Given the description of an element on the screen output the (x, y) to click on. 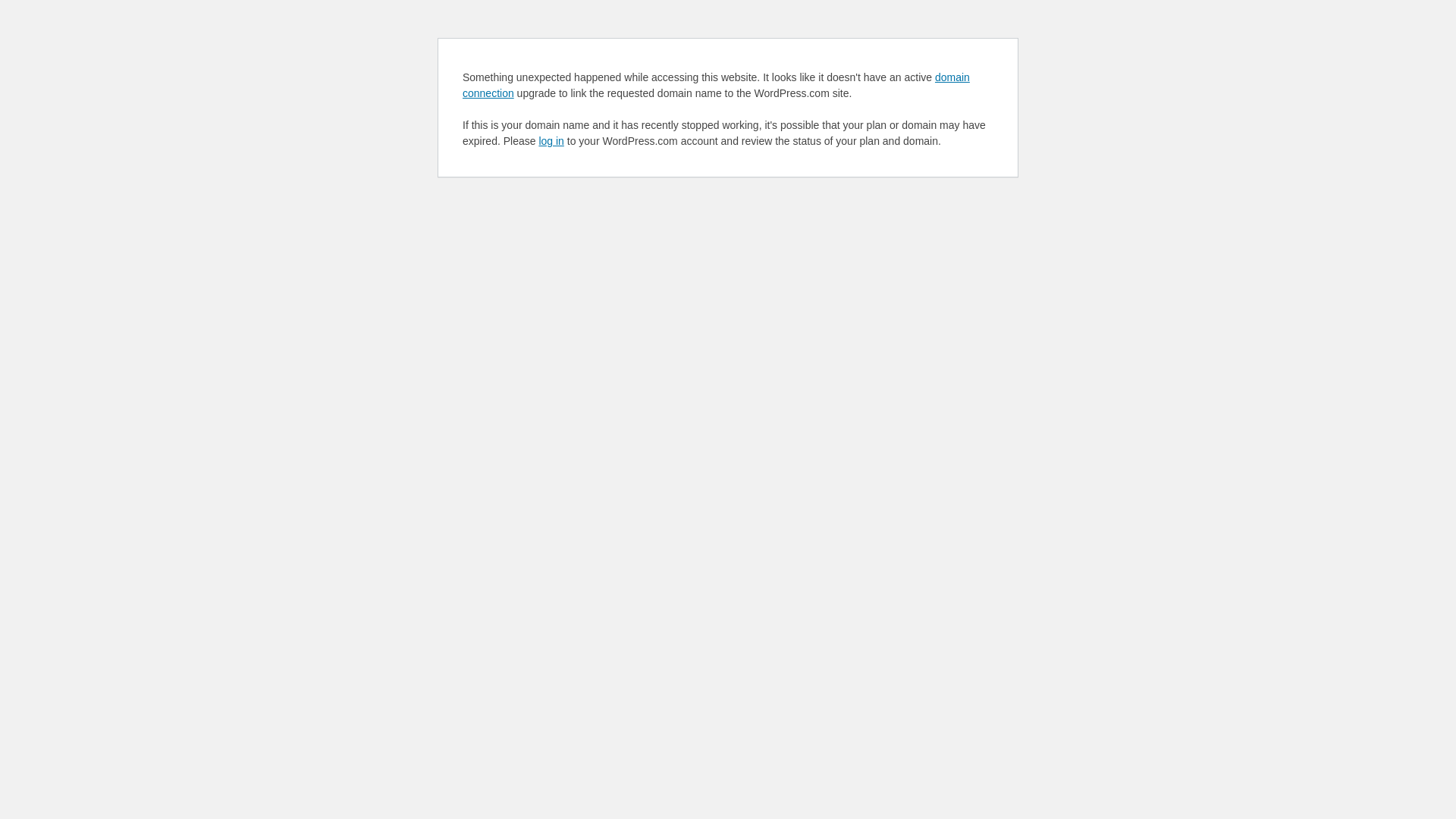
domain connection Element type: text (715, 85)
log in Element type: text (550, 140)
